Given the description of an element on the screen output the (x, y) to click on. 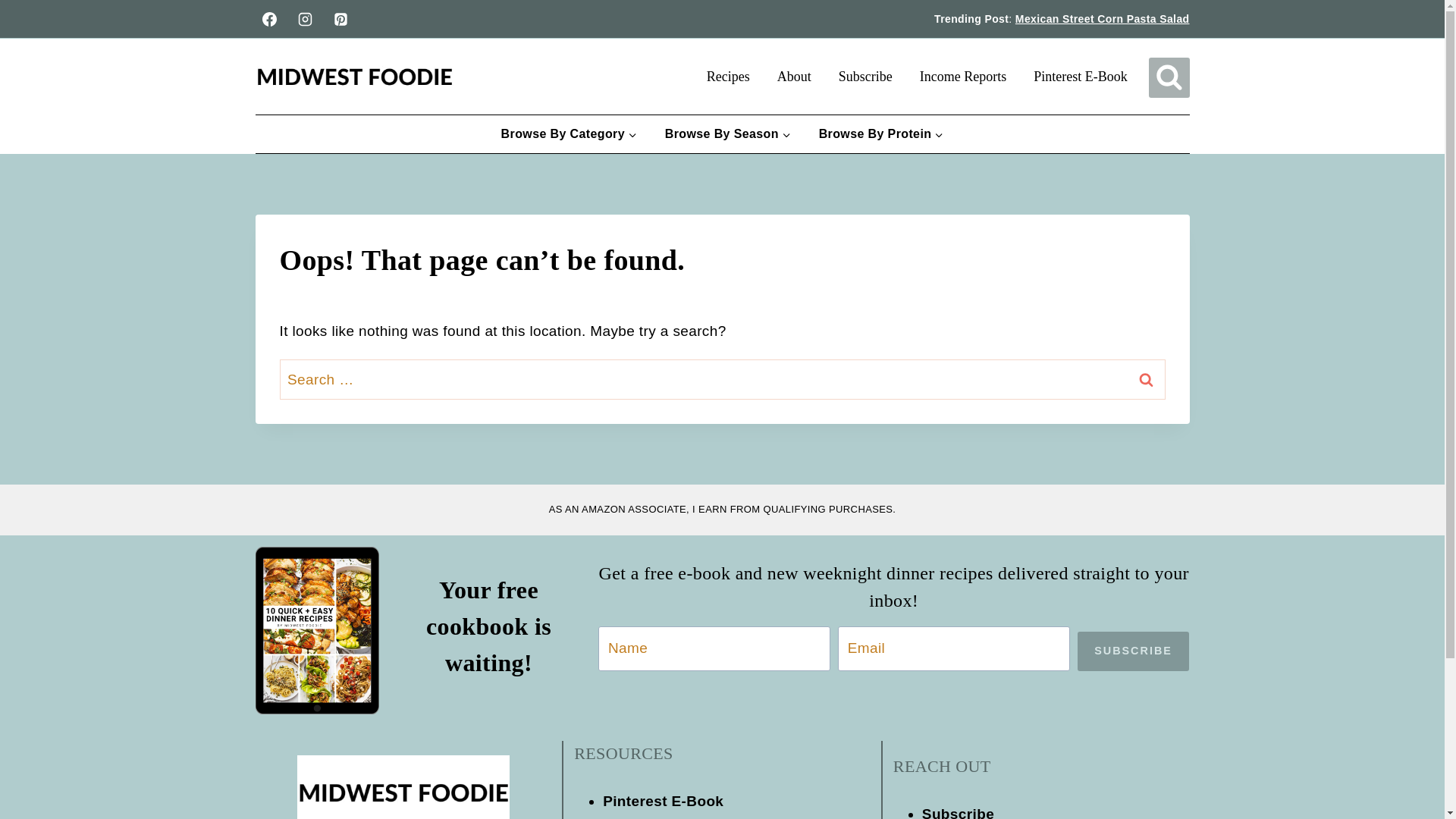
Browse By Protein (881, 134)
Search (1145, 379)
Mexican Street Corn Pasta Salad (1101, 19)
Recipes (727, 76)
Pinterest E-Book (1080, 76)
Income Reports (962, 76)
Browse By Category (568, 134)
About (793, 76)
Browse By Season (727, 134)
Subscribe (865, 76)
Search (1145, 379)
